Given the description of an element on the screen output the (x, y) to click on. 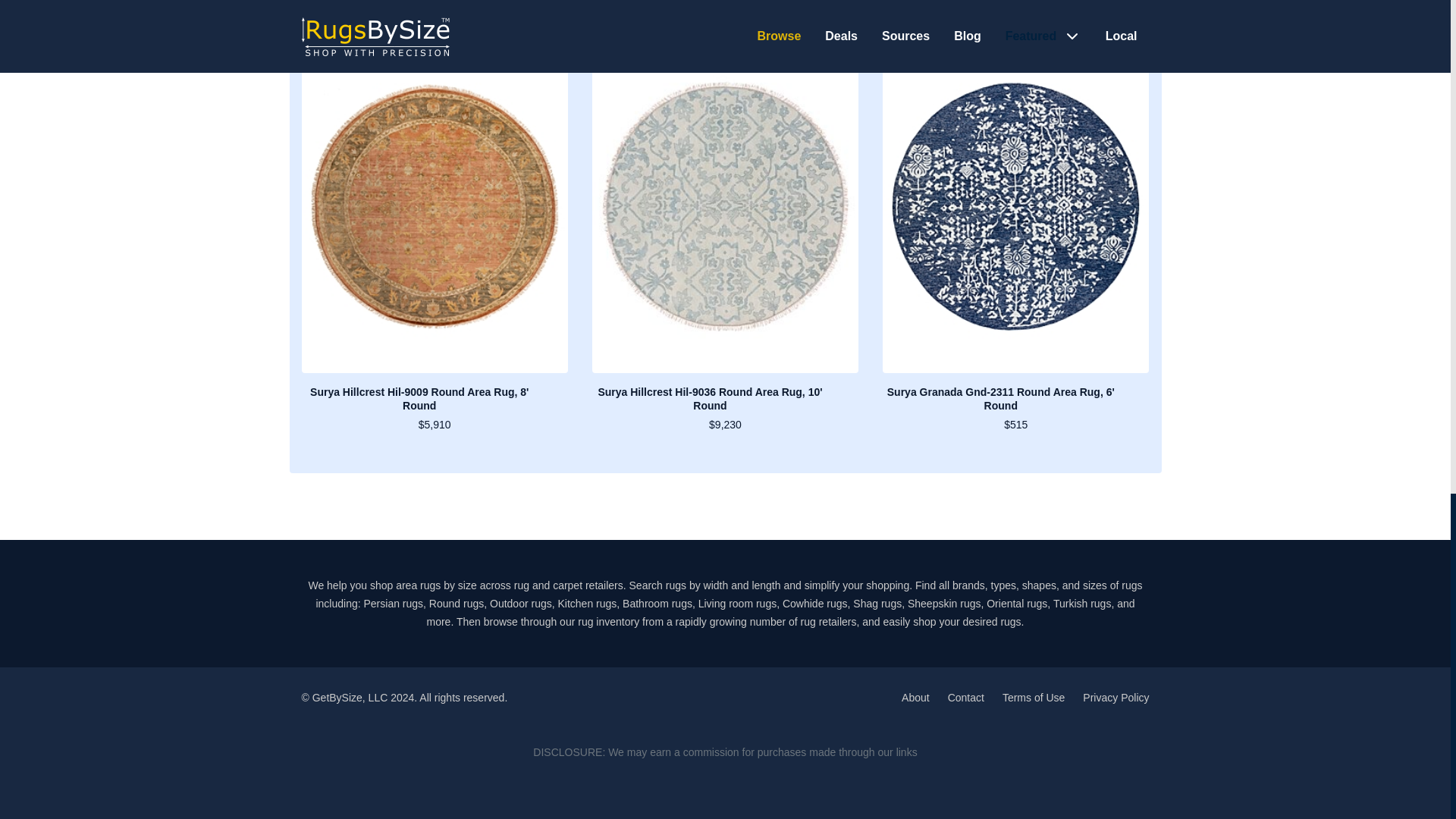
Terms of Use (1033, 697)
Contact (965, 697)
About (915, 697)
Privacy Policy (1115, 697)
